Given the description of an element on the screen output the (x, y) to click on. 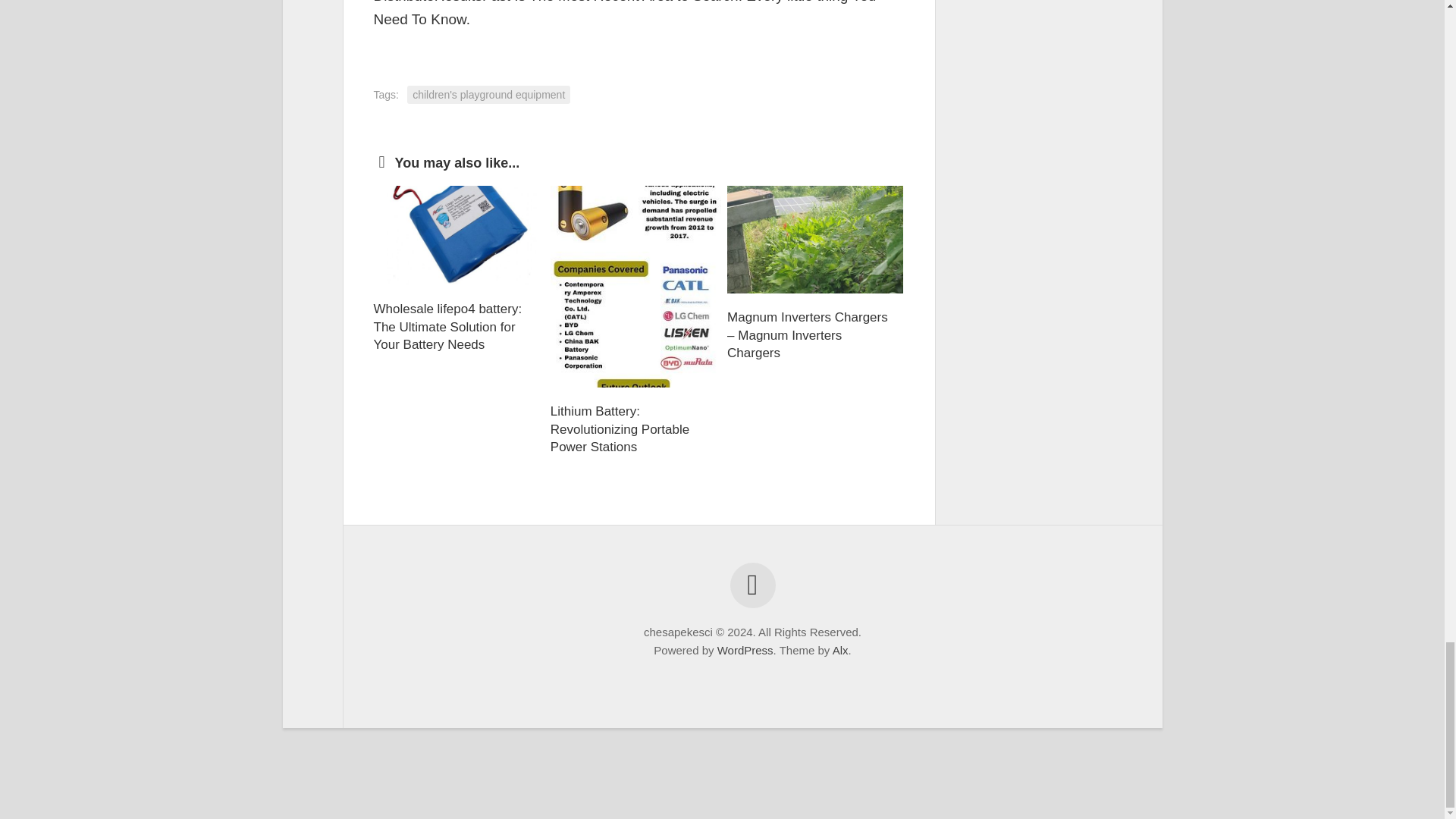
Alx (840, 649)
Lithium Battery: Revolutionizing Portable Power Stations (619, 429)
WordPress (745, 649)
children's playground equipment (488, 94)
